Given the description of an element on the screen output the (x, y) to click on. 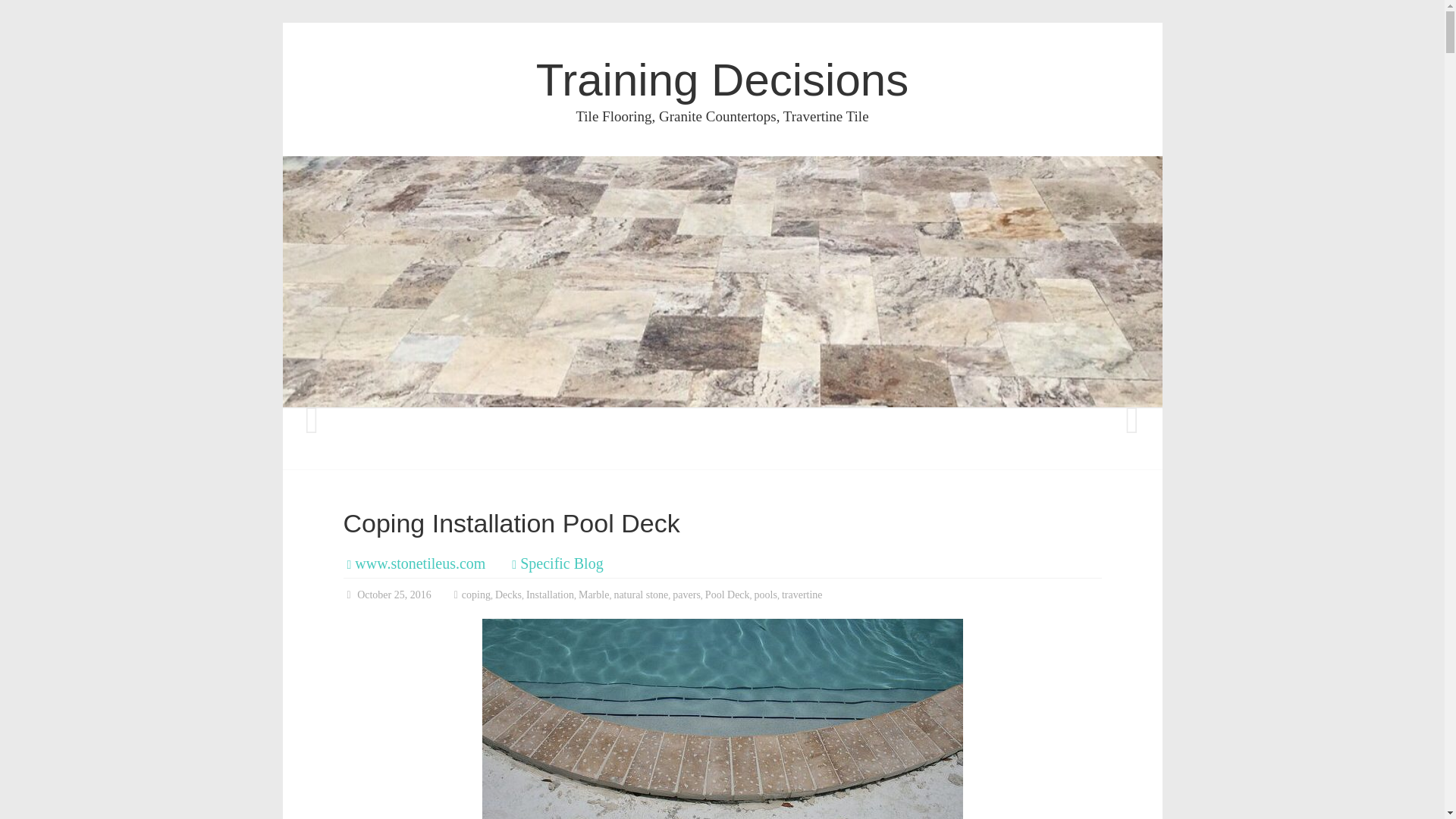
October 25, 2016 (386, 594)
Marble (593, 594)
Coping Installation Pool Deck (721, 719)
Installation (549, 594)
travertine (801, 594)
coping (475, 594)
natural stone (640, 594)
pavers (686, 594)
Coping Installation Pool Deck (510, 522)
Decks (508, 594)
